Given the description of an element on the screen output the (x, y) to click on. 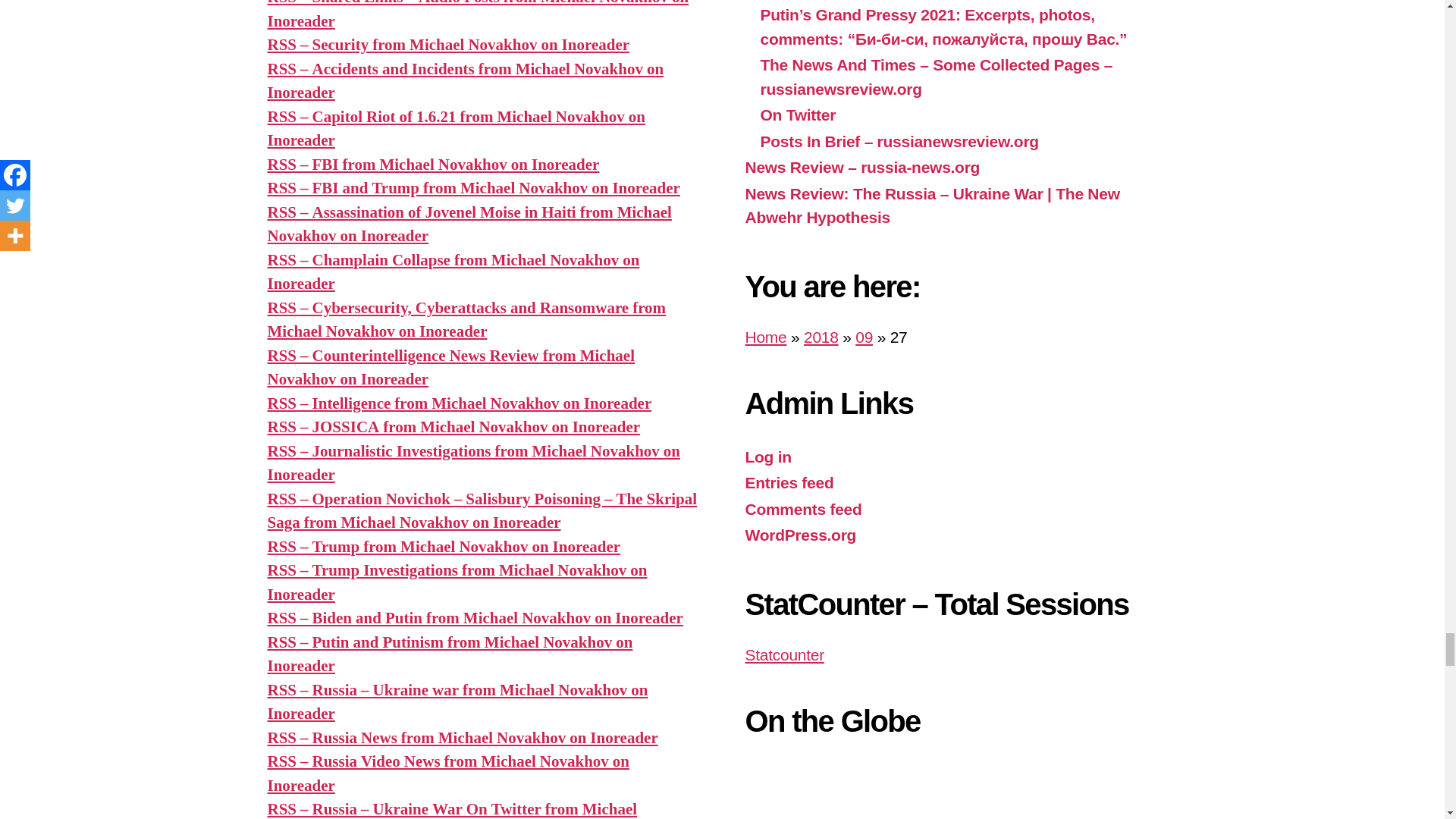
2018 (820, 336)
09 (864, 336)
Home (765, 336)
